Given the description of an element on the screen output the (x, y) to click on. 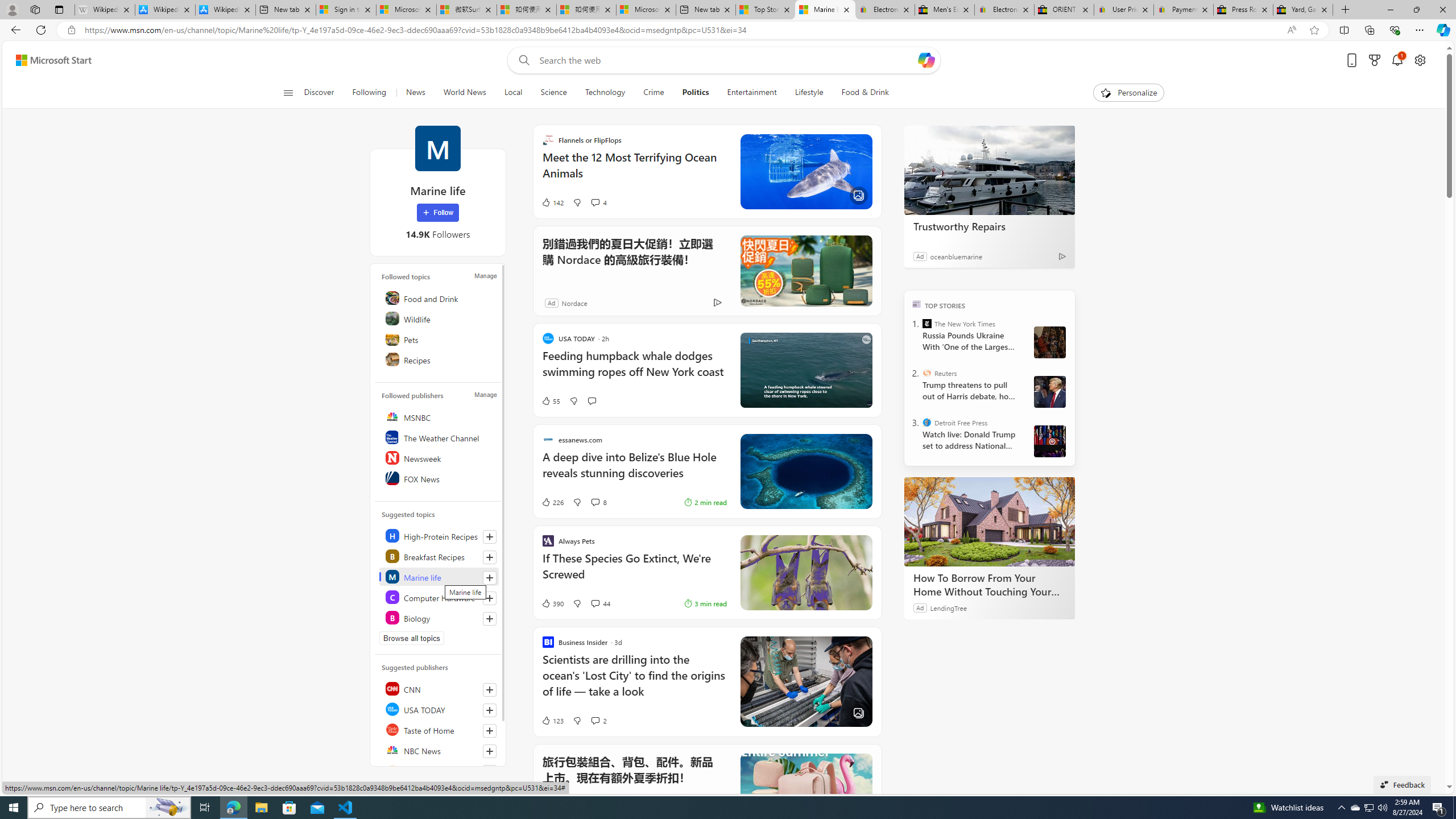
Wildlife (439, 318)
MSNBC (439, 416)
The New York Times (927, 323)
Taste of Home (439, 729)
